Given the description of an element on the screen output the (x, y) to click on. 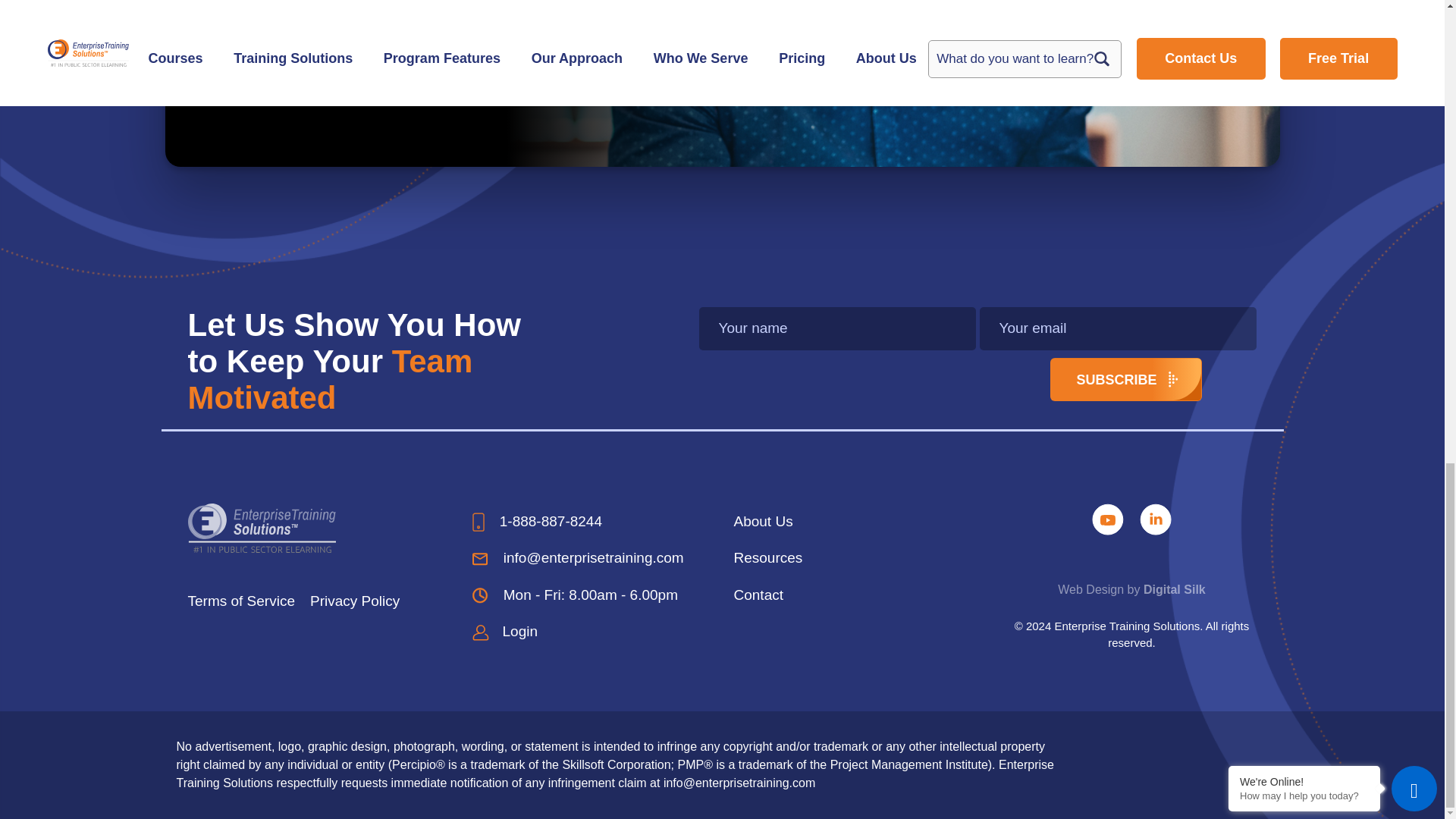
SUBSCRIBE (1125, 379)
Enterprise Training and Government Training on LinkedIn (1155, 518)
Enterprise Training and Government Training on Youtube (1110, 518)
